Given the description of an element on the screen output the (x, y) to click on. 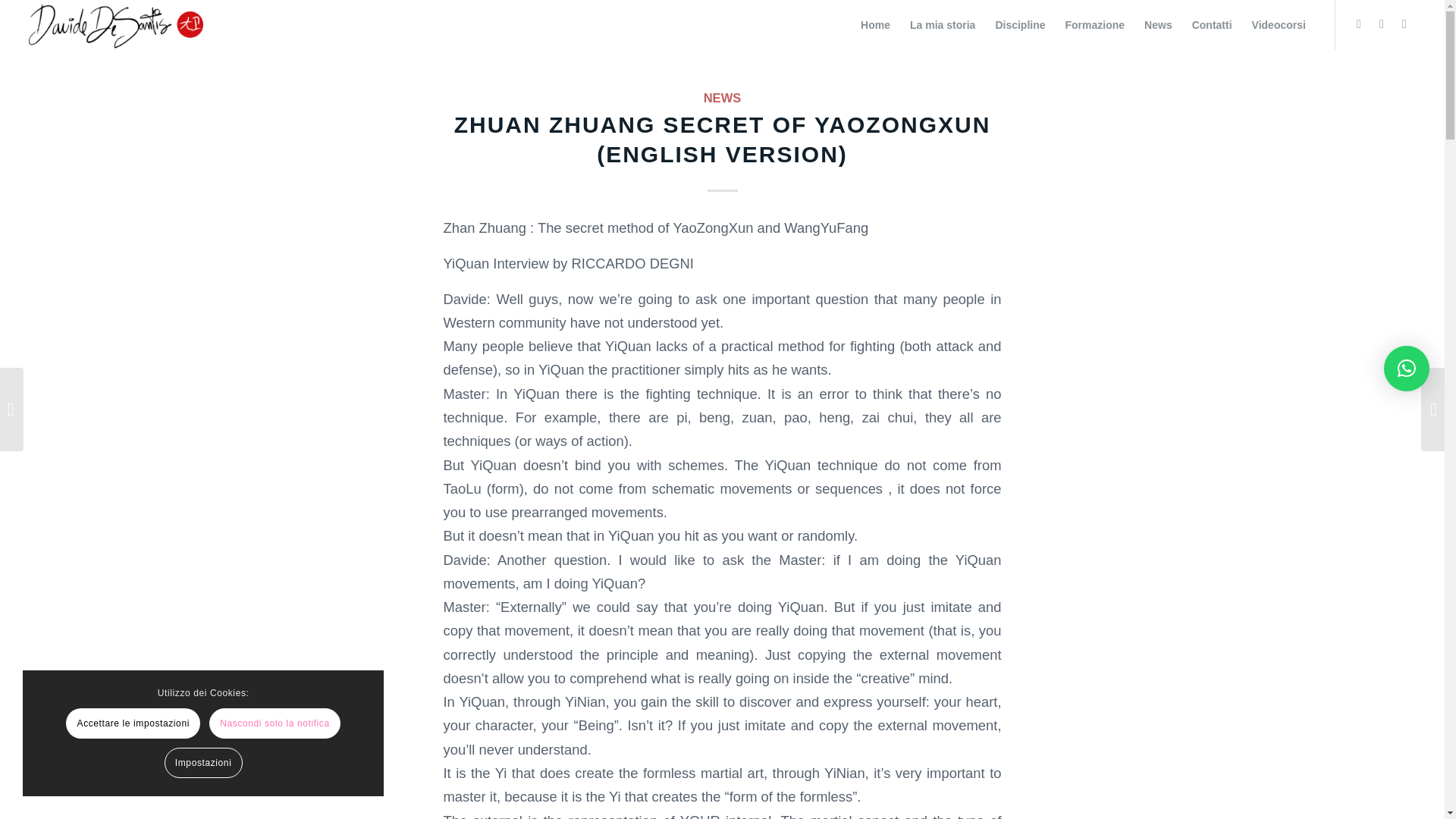
Accettare le impostazioni (132, 723)
Nascondi solo la notifica (274, 723)
Instagram (1404, 24)
Facebook (1381, 24)
Impostazioni (203, 762)
Formazione (1095, 24)
NEWS (722, 97)
Youtube (1359, 24)
News (1158, 24)
Home (874, 24)
